Given the description of an element on the screen output the (x, y) to click on. 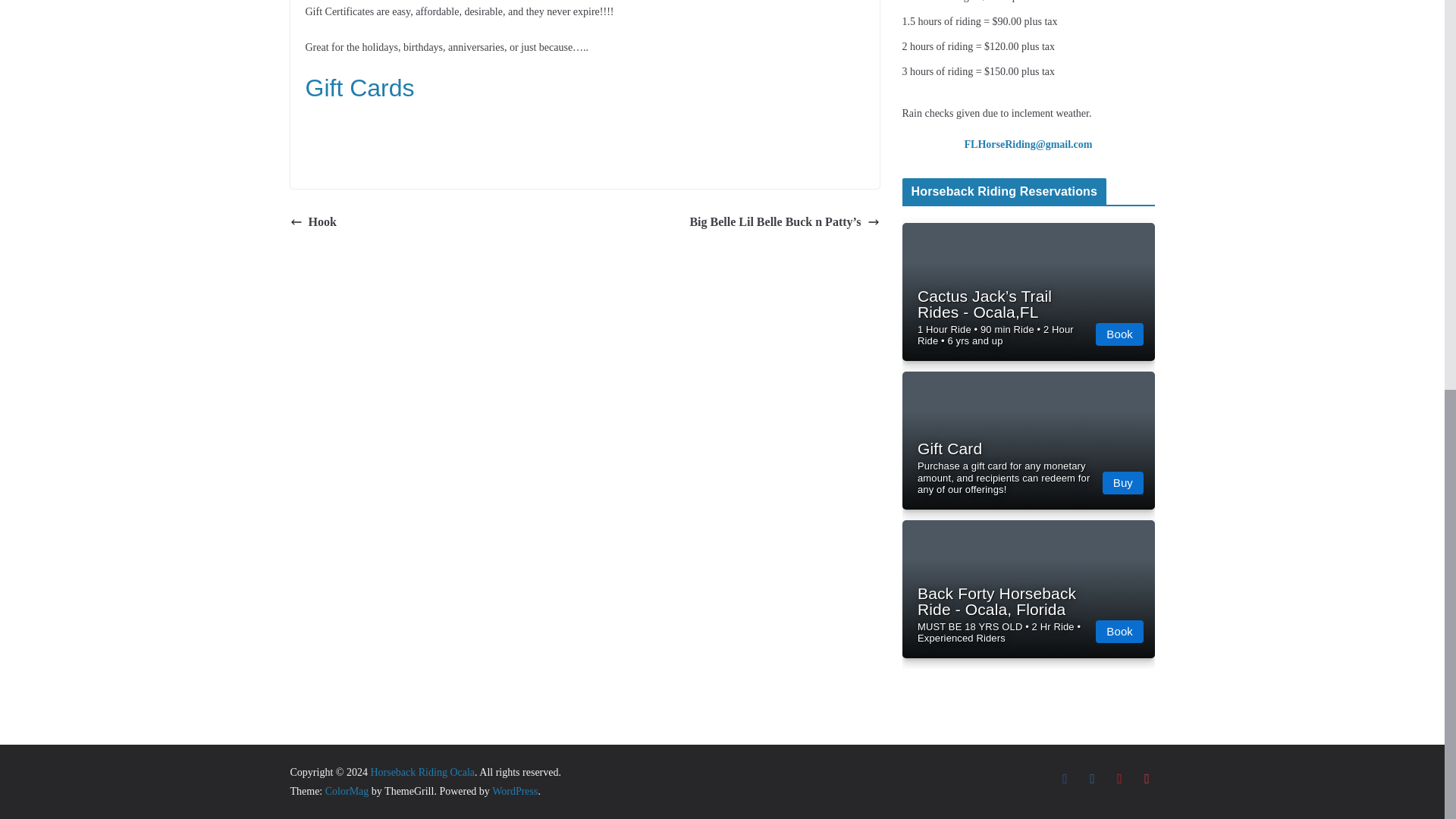
ColorMag (346, 790)
Horseback Riding Ocala (421, 772)
FareHarbor (1342, 140)
Hook (312, 222)
Gift Cards (358, 87)
WordPress (514, 790)
WordPress (514, 790)
ColorMag (346, 790)
Horseback Riding Ocala (421, 772)
